Given the description of an element on the screen output the (x, y) to click on. 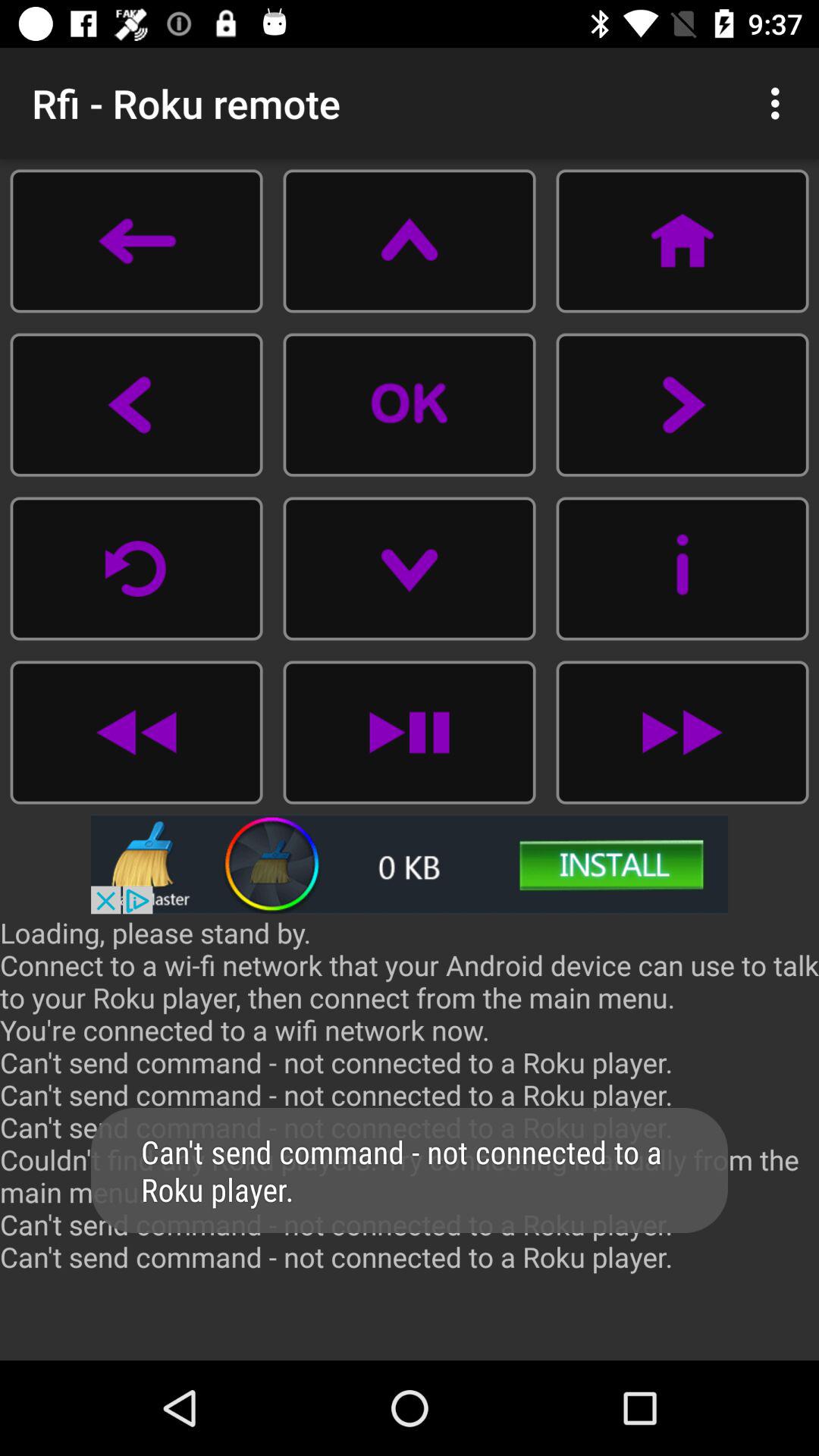
check to ok box (409, 404)
